Given the description of an element on the screen output the (x, y) to click on. 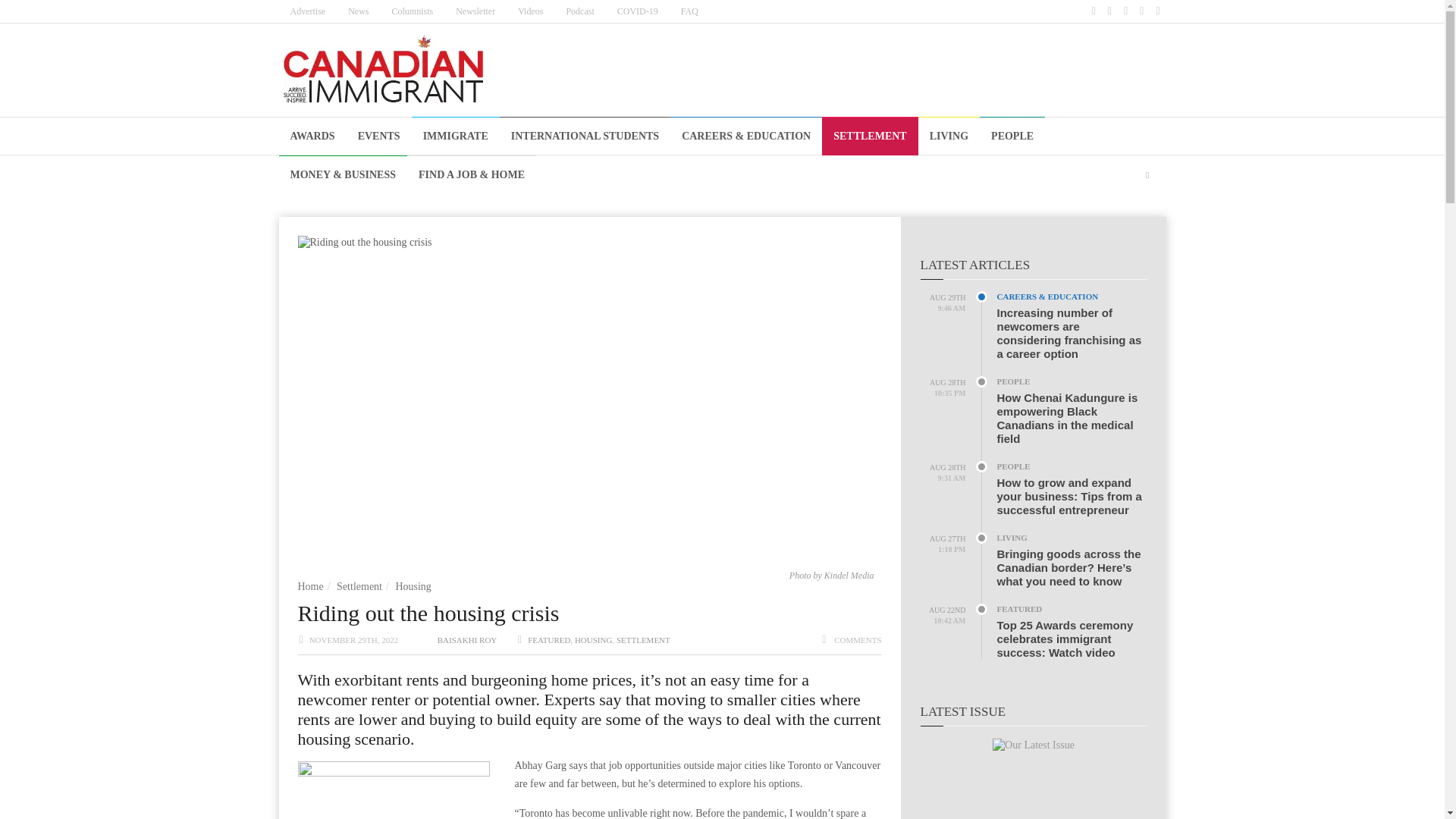
Settlement (358, 586)
Housing (412, 586)
View all posts in Housing (593, 639)
View all posts in Featured (548, 639)
View all posts in Settlement (642, 639)
